Given the description of an element on the screen output the (x, y) to click on. 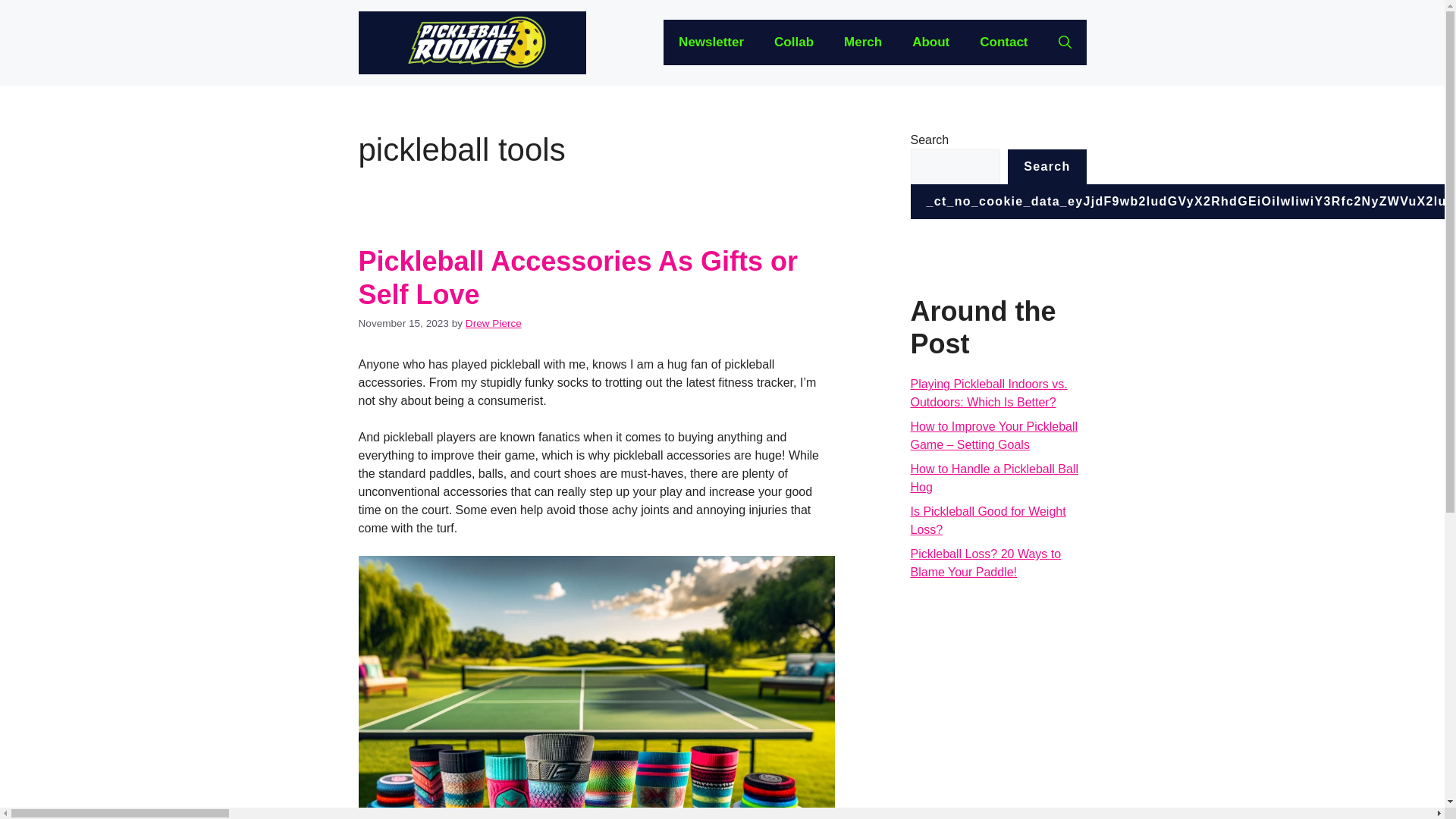
About (929, 42)
Playing Pickleball Indoors vs. Outdoors: Which Is Better? (988, 392)
Pickleball Accessories As Gifts or Self Love (577, 277)
Collab (793, 42)
View all posts by Drew Pierce (493, 323)
Contact (1002, 42)
Drew Pierce (493, 323)
Is Pickleball Good for Weight Loss? (987, 520)
Search (1046, 166)
Newsletter (710, 42)
Pickleball Loss? 20 Ways to Blame Your Paddle! (985, 562)
Merch (862, 42)
How to Handle a Pickleball Ball Hog (993, 477)
